Given the description of an element on the screen output the (x, y) to click on. 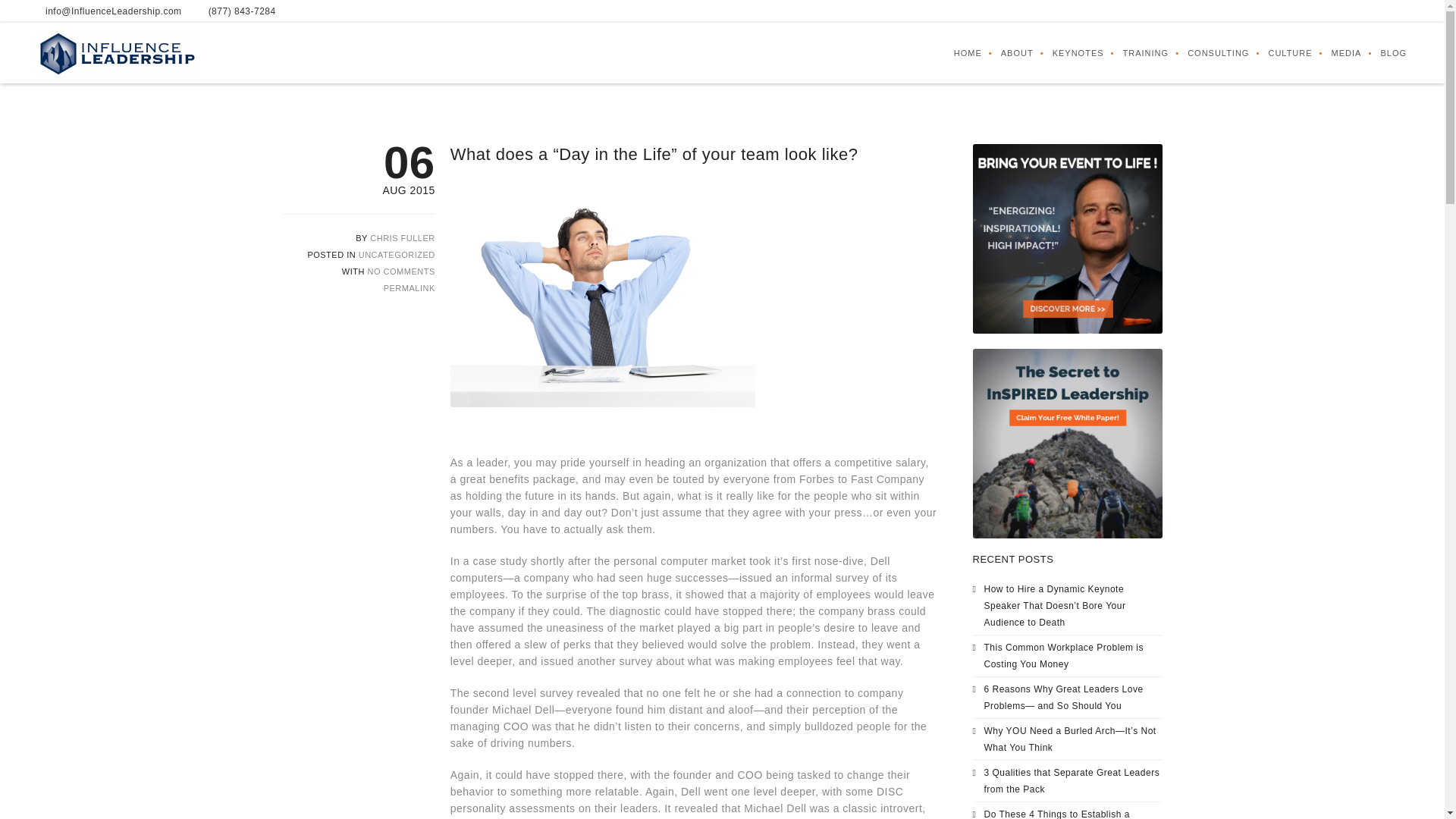
KEYNOTES (1068, 52)
CONSULTING (1209, 52)
PERMALINK (409, 287)
CULTURE (1280, 52)
TRAINING (1136, 52)
UNCATEGORIZED (396, 254)
CHRIS FULLER (401, 237)
NO COMMENTS (401, 271)
Posts by Chris Fuller (401, 237)
